Given the description of an element on the screen output the (x, y) to click on. 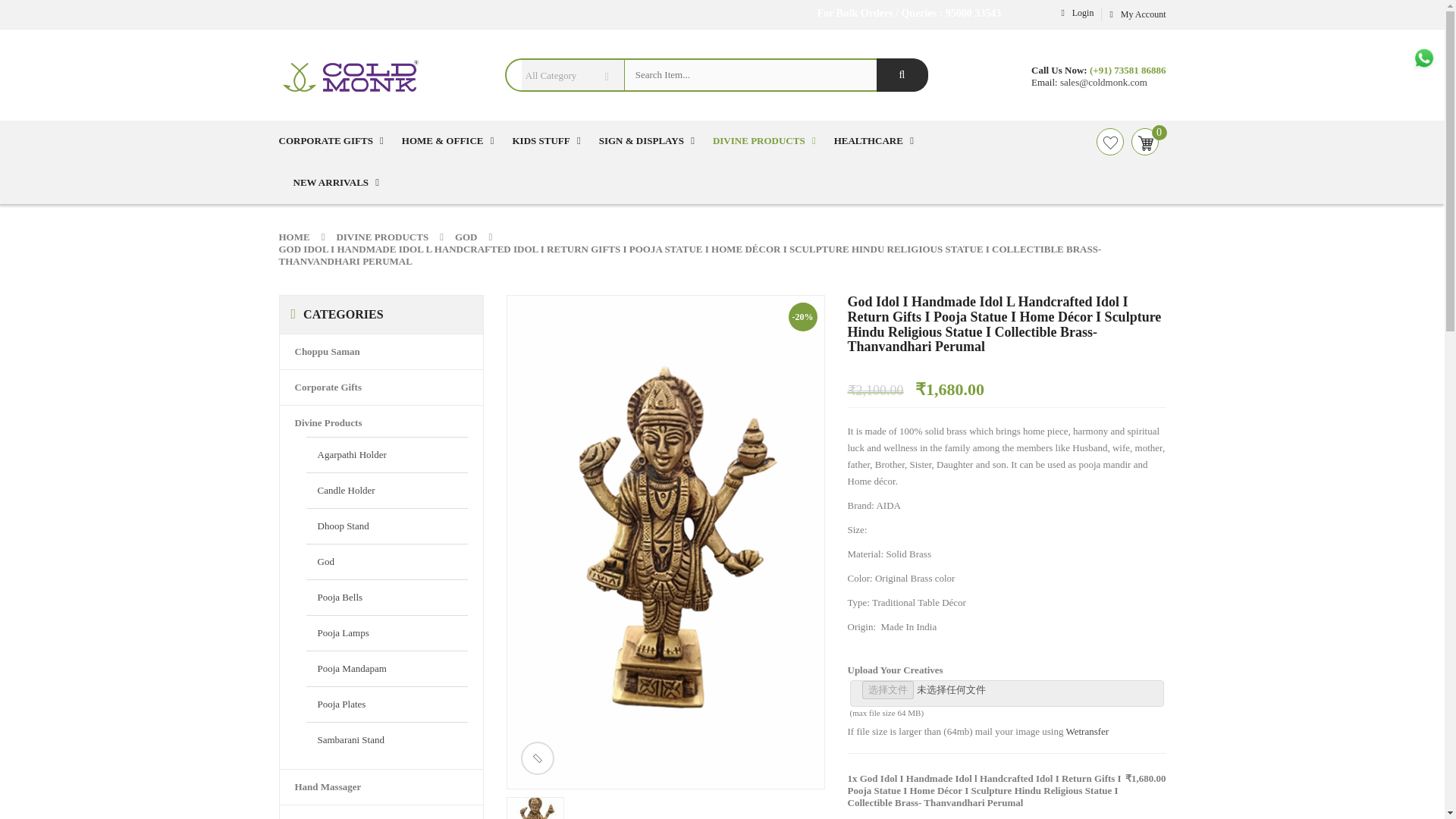
Qty (858, 757)
1 (858, 757)
Login (1074, 12)
